Given the description of an element on the screen output the (x, y) to click on. 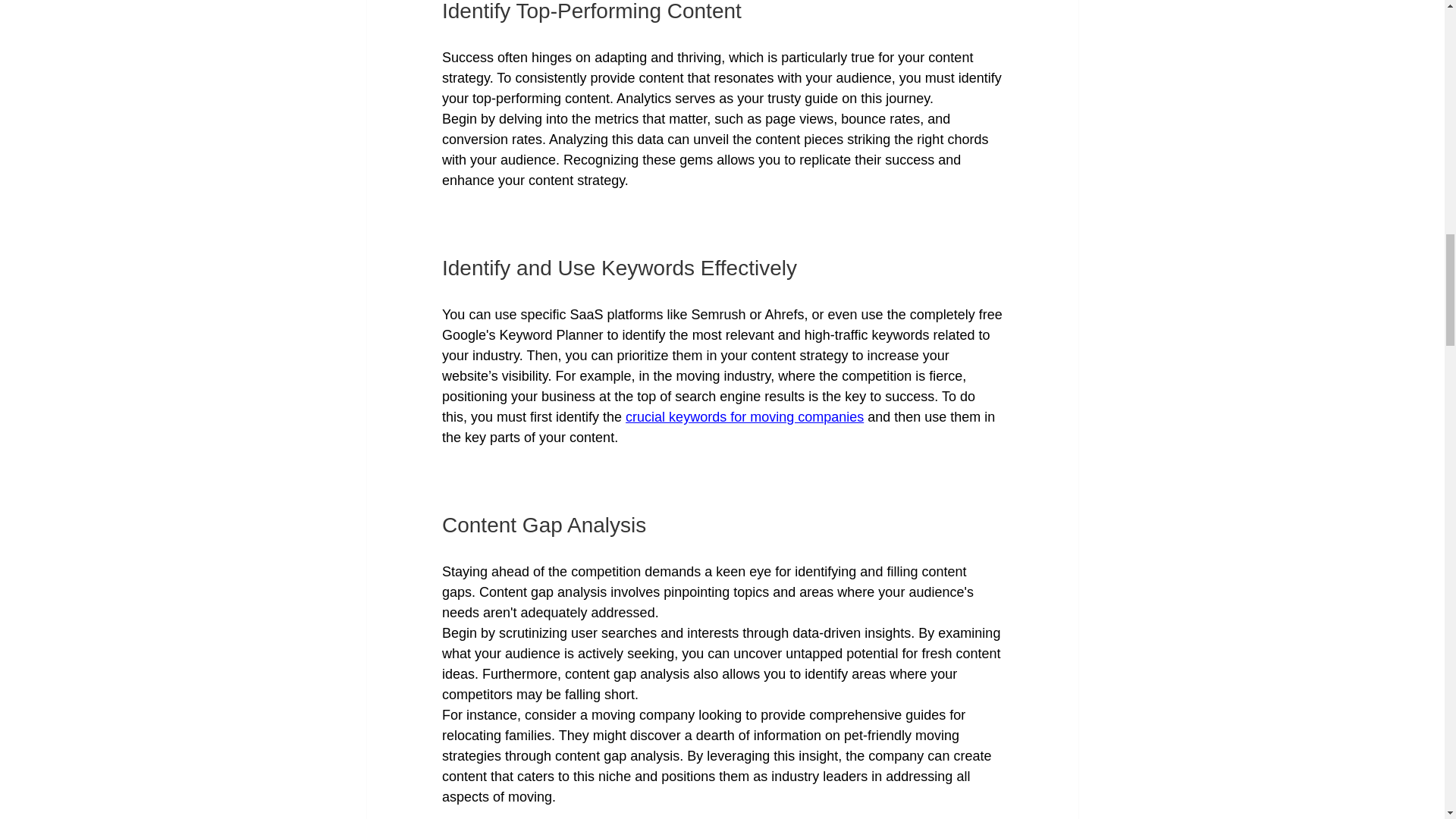
crucial keywords for moving companies (744, 417)
